Given the description of an element on the screen output the (x, y) to click on. 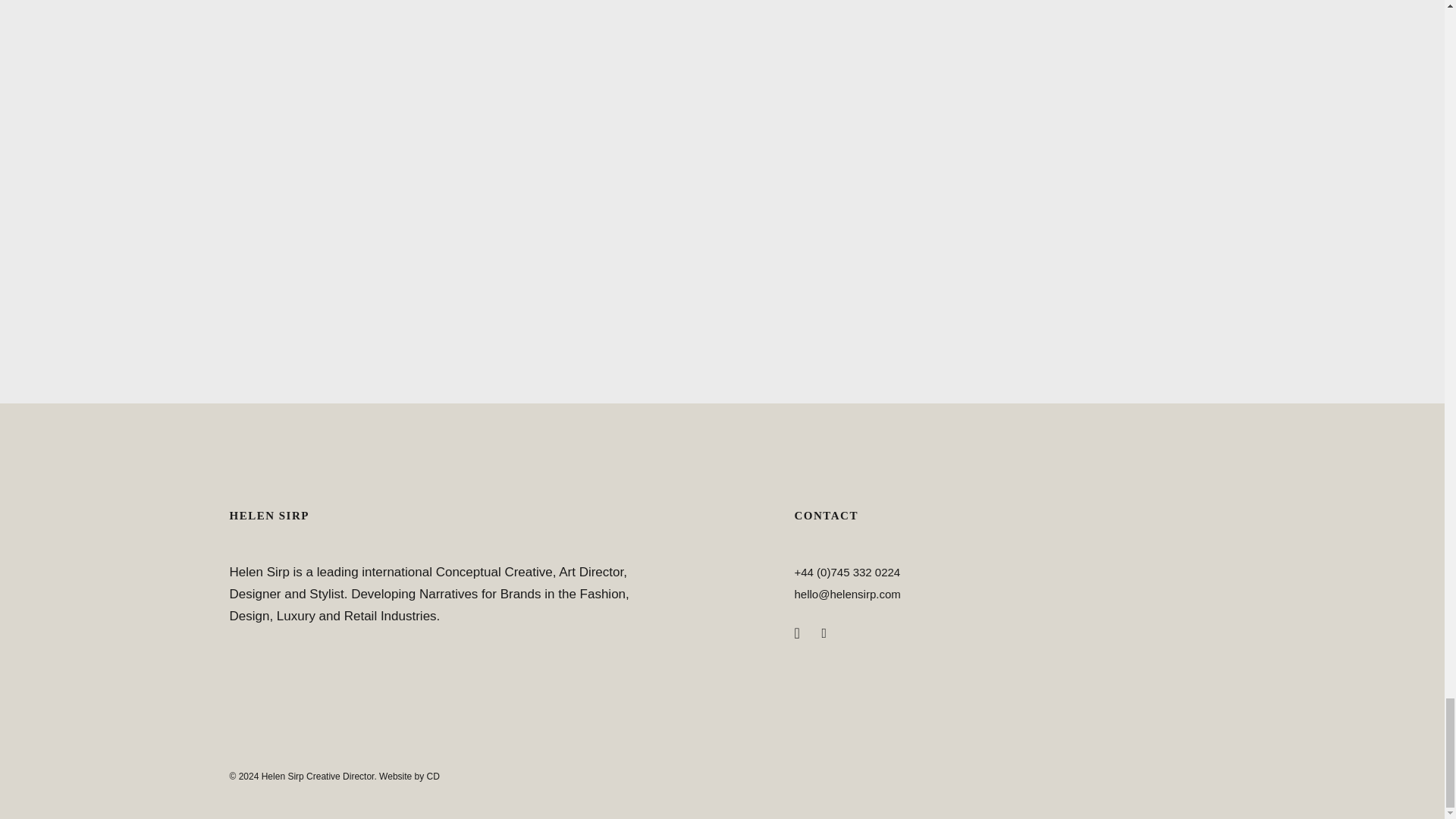
CD (432, 776)
